Given the description of an element on the screen output the (x, y) to click on. 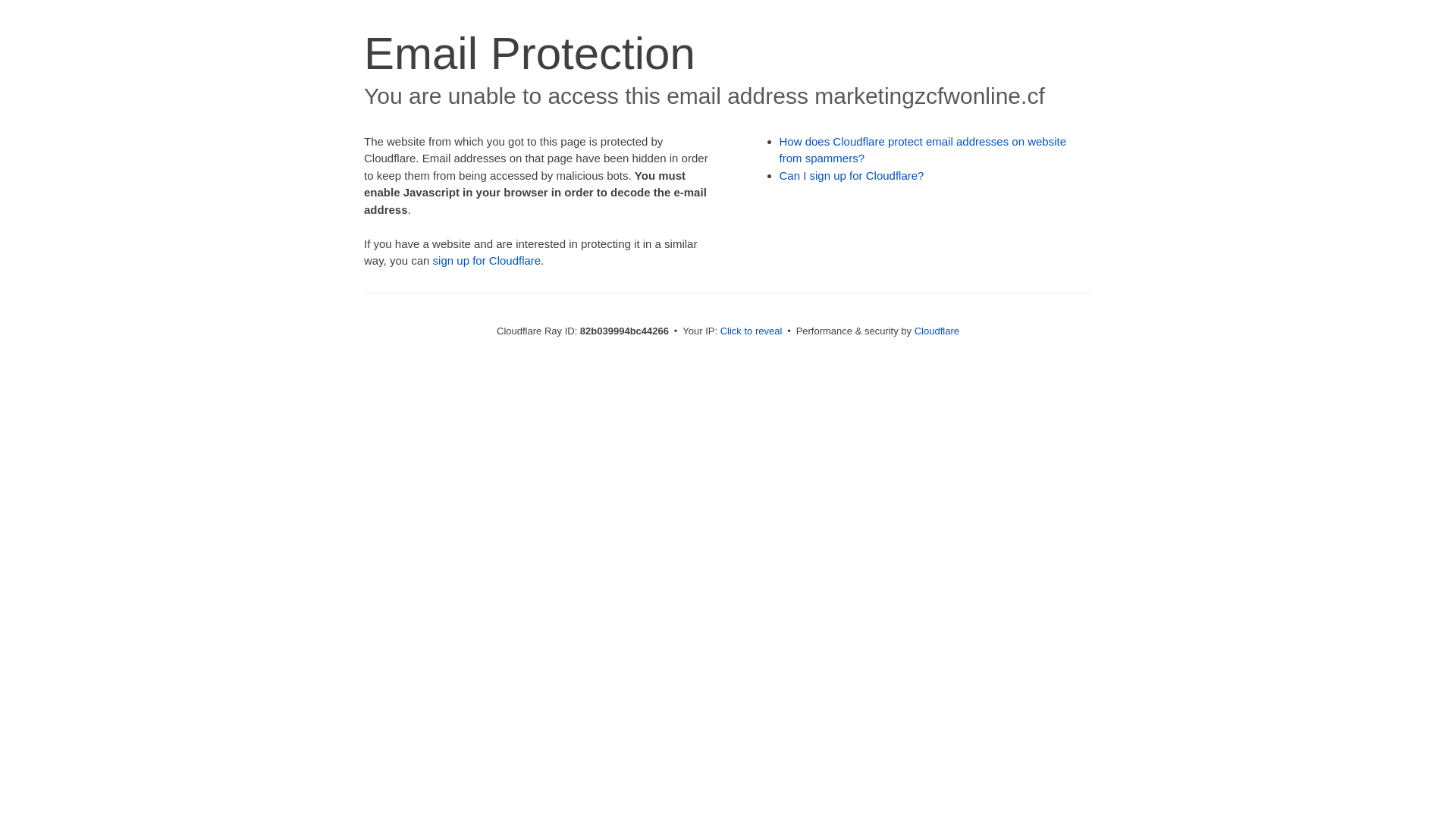
Cloudflare Element type: text (936, 330)
Click to reveal Element type: text (751, 330)
Can I sign up for Cloudflare? Element type: text (851, 175)
sign up for Cloudflare Element type: text (487, 260)
